Given the description of an element on the screen output the (x, y) to click on. 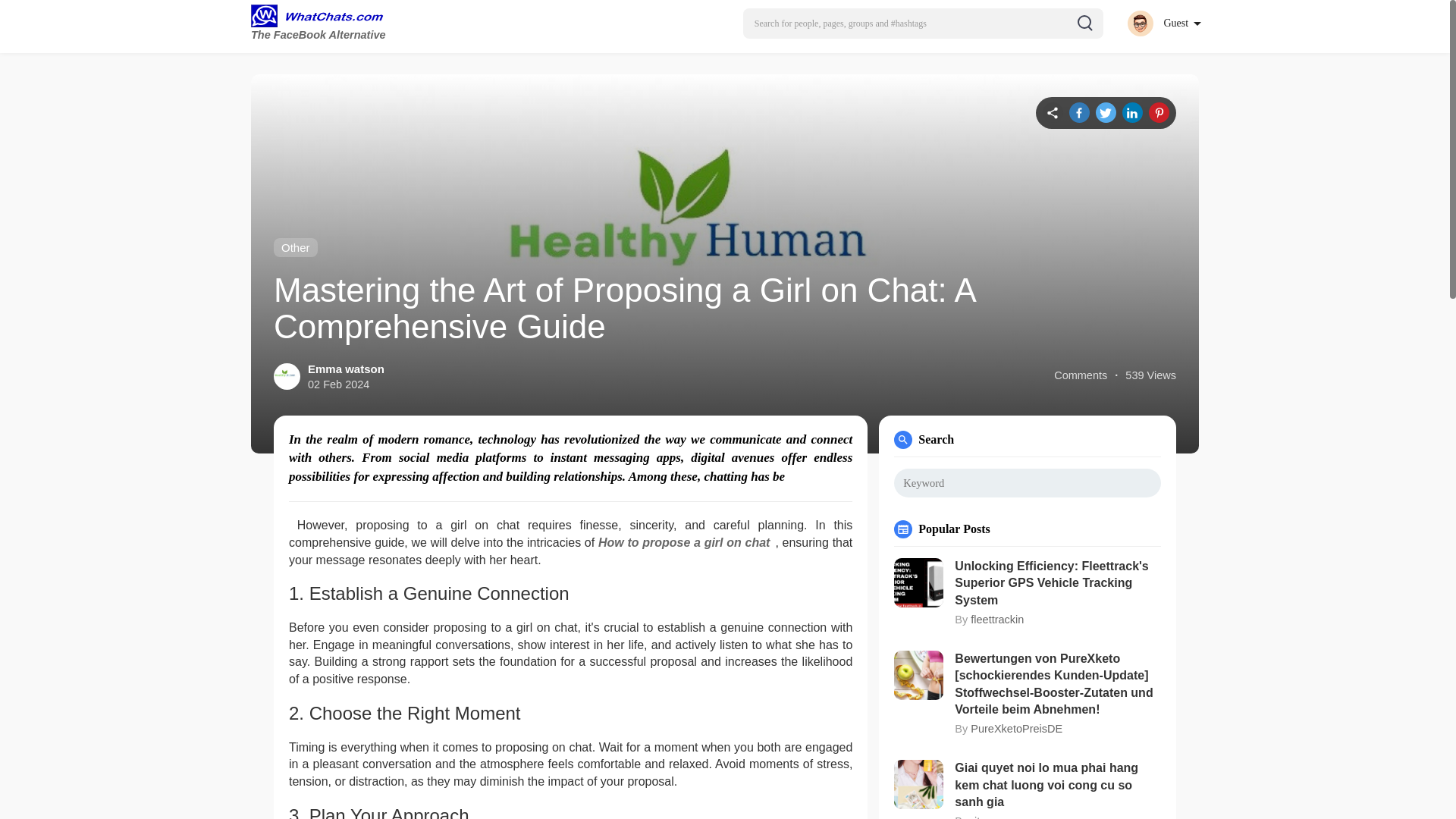
Comments (1080, 375)
Twitter (1106, 112)
PureXketoPreisDE (1016, 728)
Other (295, 247)
ritameyer (993, 816)
How to propose a girl on chat (686, 542)
Timeline (1052, 112)
The FaceBook Alternative (320, 23)
Emma watson (345, 368)
